Given the description of an element on the screen output the (x, y) to click on. 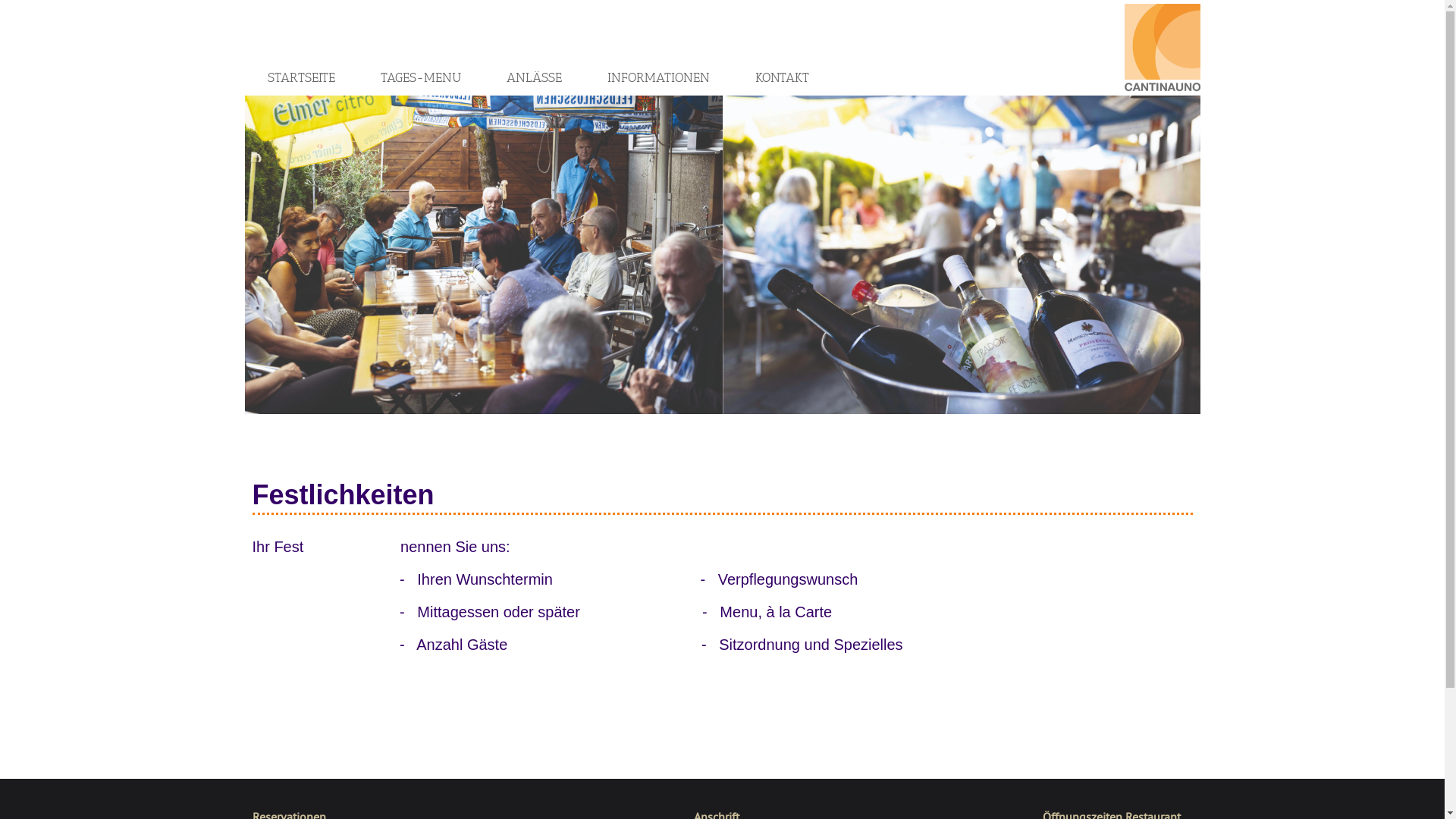
TAGES-MENU Element type: text (419, 76)
STARTSEITE Element type: text (301, 76)
KONTAKT Element type: text (781, 76)
INFORMATIONEN Element type: text (658, 76)
